Given the description of an element on the screen output the (x, y) to click on. 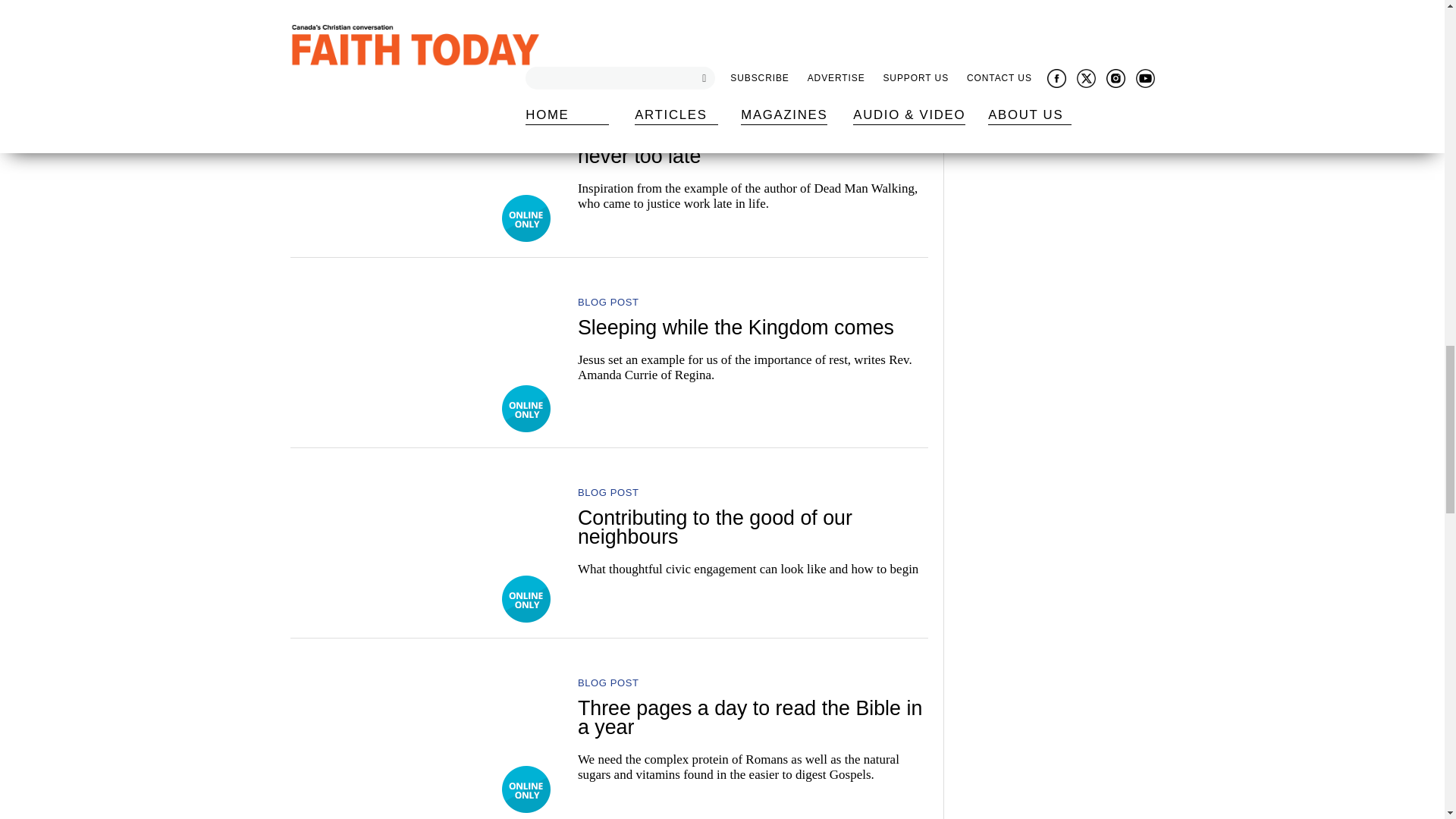
hammock-photo-by-radek-grzybowski-dunnqE0fcfY-unsplash (423, 348)
Helen-Prejean-photo-from-her-website-by-Scott-Langley (423, 158)
reading-newspaper-citizenship-priscilla-du-preez-unsplash (423, 539)
Good-on-graffiti-wall-photo-by-volkan-olmez (423, 18)
